Given the description of an element on the screen output the (x, y) to click on. 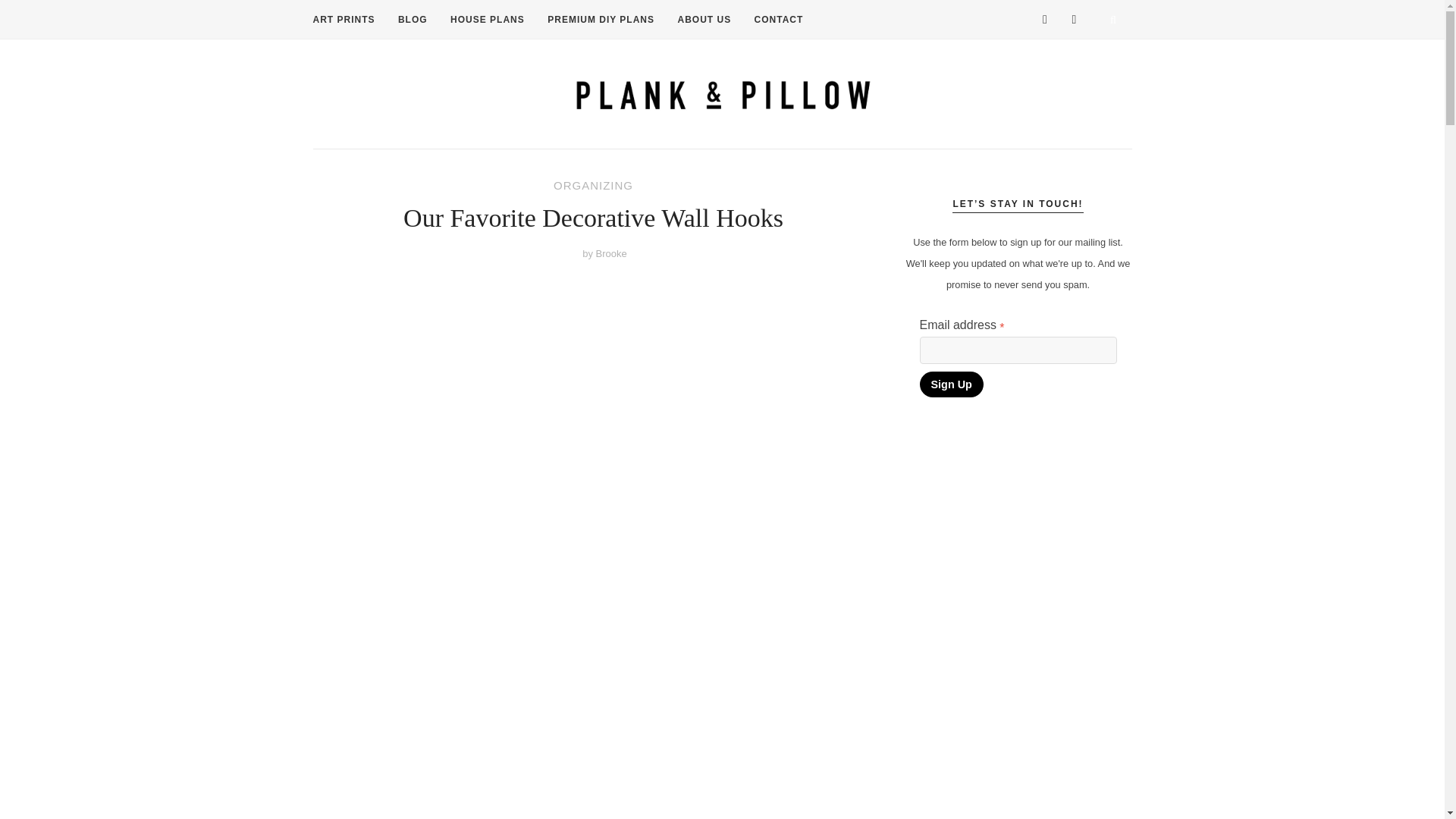
HOUSE PLANS (486, 19)
PREMIUM DIY PLANS (600, 19)
ORGANIZING (593, 184)
ABOUT US (703, 19)
ART PRINTS (343, 19)
CONTACT (778, 19)
Posts by Brooke (611, 253)
Brooke (611, 253)
